Given the description of an element on the screen output the (x, y) to click on. 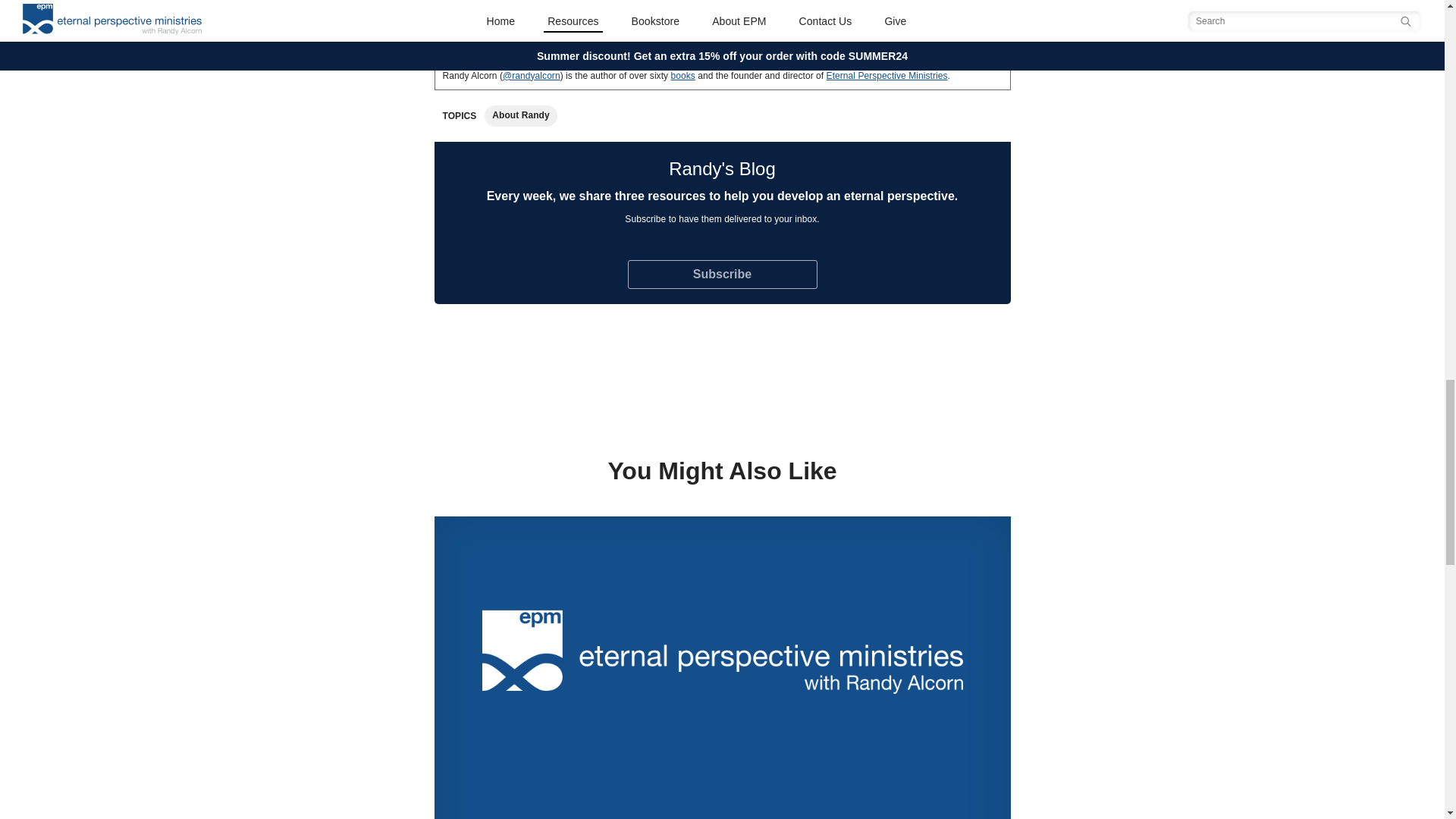
About Randy (520, 114)
books (683, 75)
Psalm 78:4 (854, 18)
Subscribe (721, 274)
Eternal Perspective Ministries (887, 75)
